Given the description of an element on the screen output the (x, y) to click on. 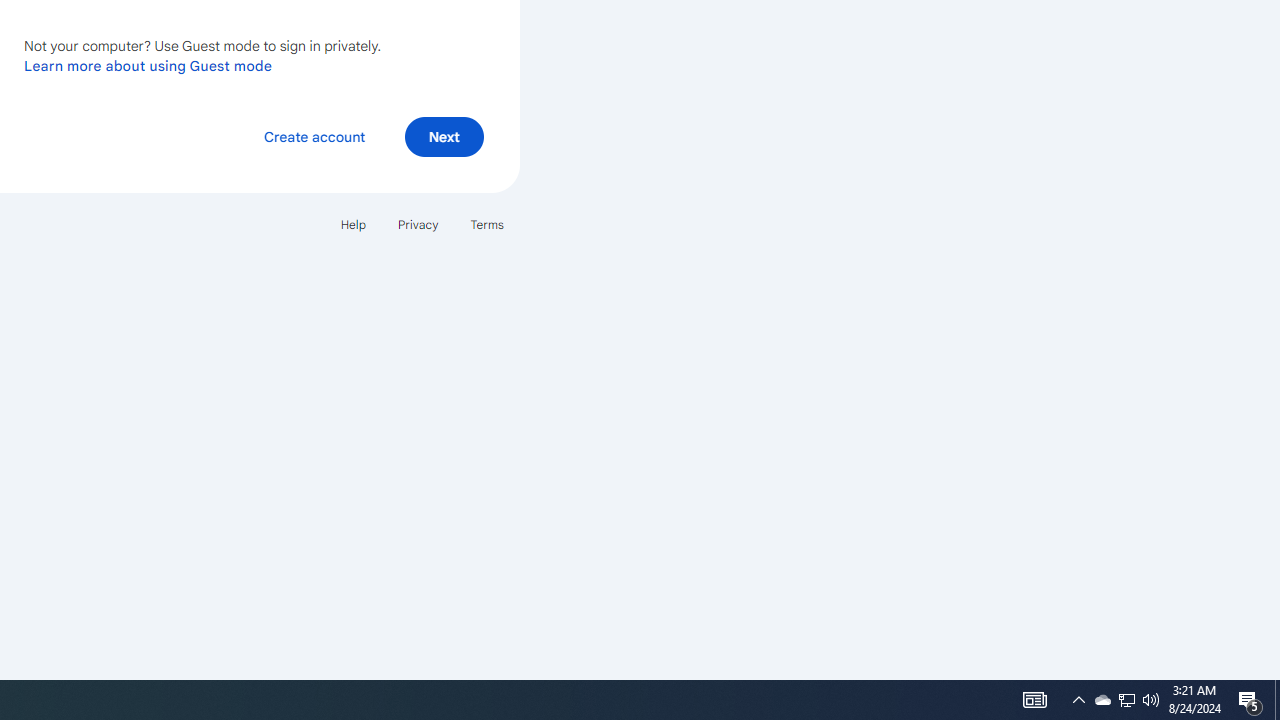
Next (443, 135)
Create account (314, 135)
Learn more about using Guest mode (148, 65)
